Given the description of an element on the screen output the (x, y) to click on. 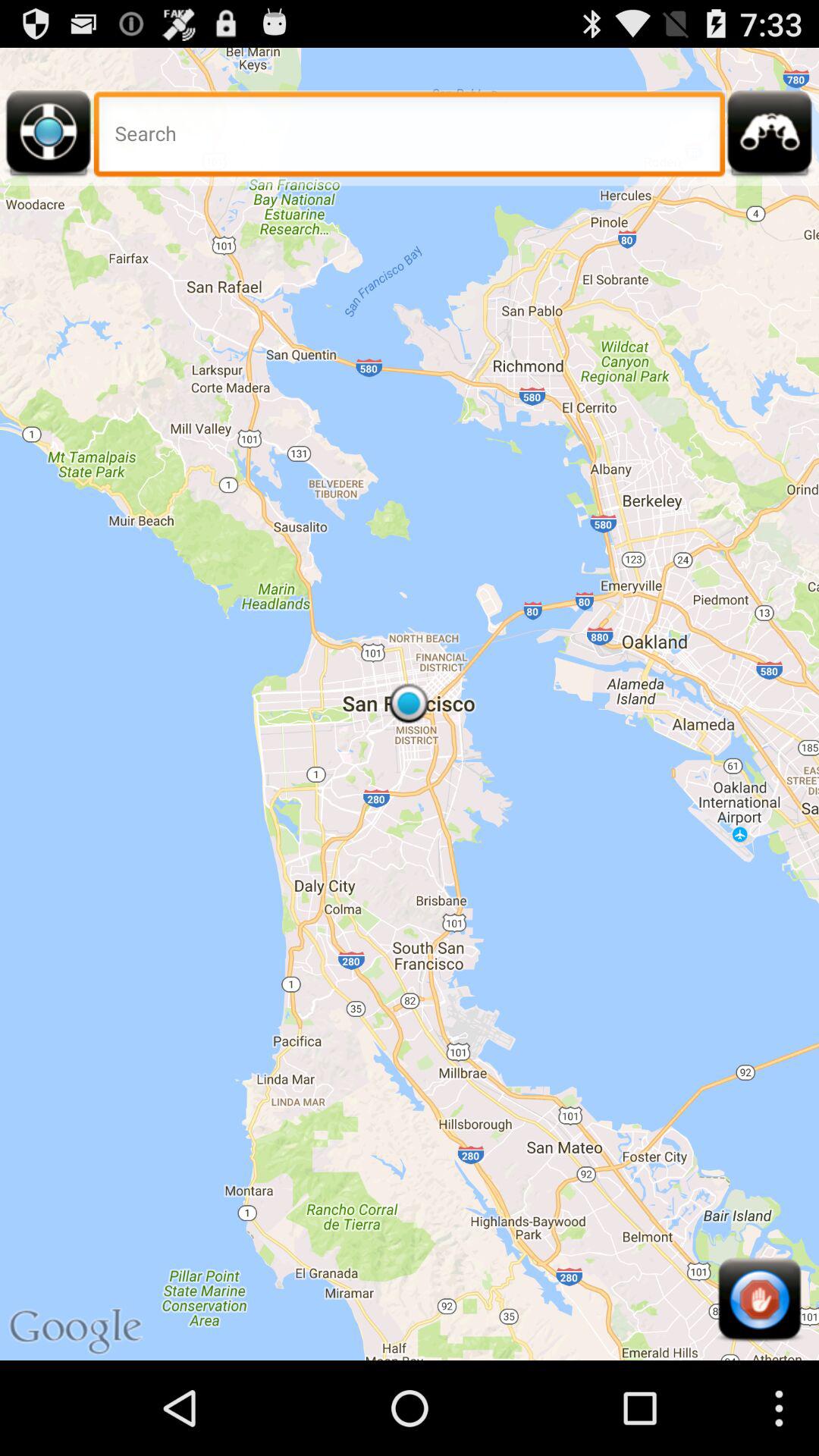
locate cops (770, 137)
